Given the description of an element on the screen output the (x, y) to click on. 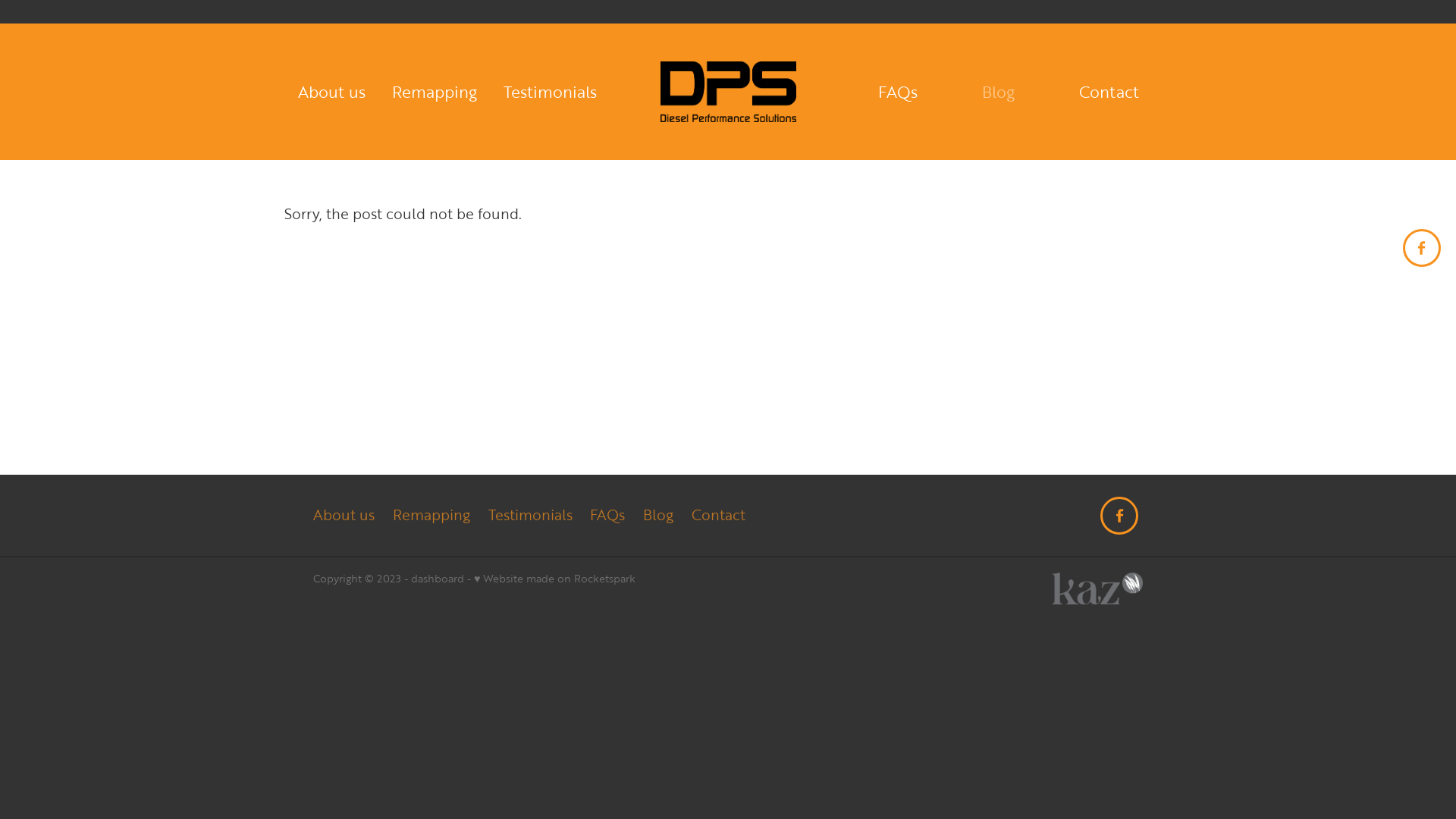
About us Element type: text (331, 93)
About us Element type: text (348, 514)
FAQs Element type: text (606, 514)
Testimonials Element type: text (530, 514)
Blog Element type: text (998, 93)
dashboard Element type: text (437, 578)
Remapping Element type: text (431, 514)
A link to this website's Facebook. Element type: hover (1119, 515)
Testimonials Element type: text (549, 93)
Contact Element type: text (1109, 93)
Blog Element type: text (657, 514)
FAQs Element type: text (897, 93)
Contact Element type: text (718, 514)
A link to this website's Facebook. Element type: hover (1421, 247)
Remapping Element type: text (434, 93)
